Given the description of an element on the screen output the (x, y) to click on. 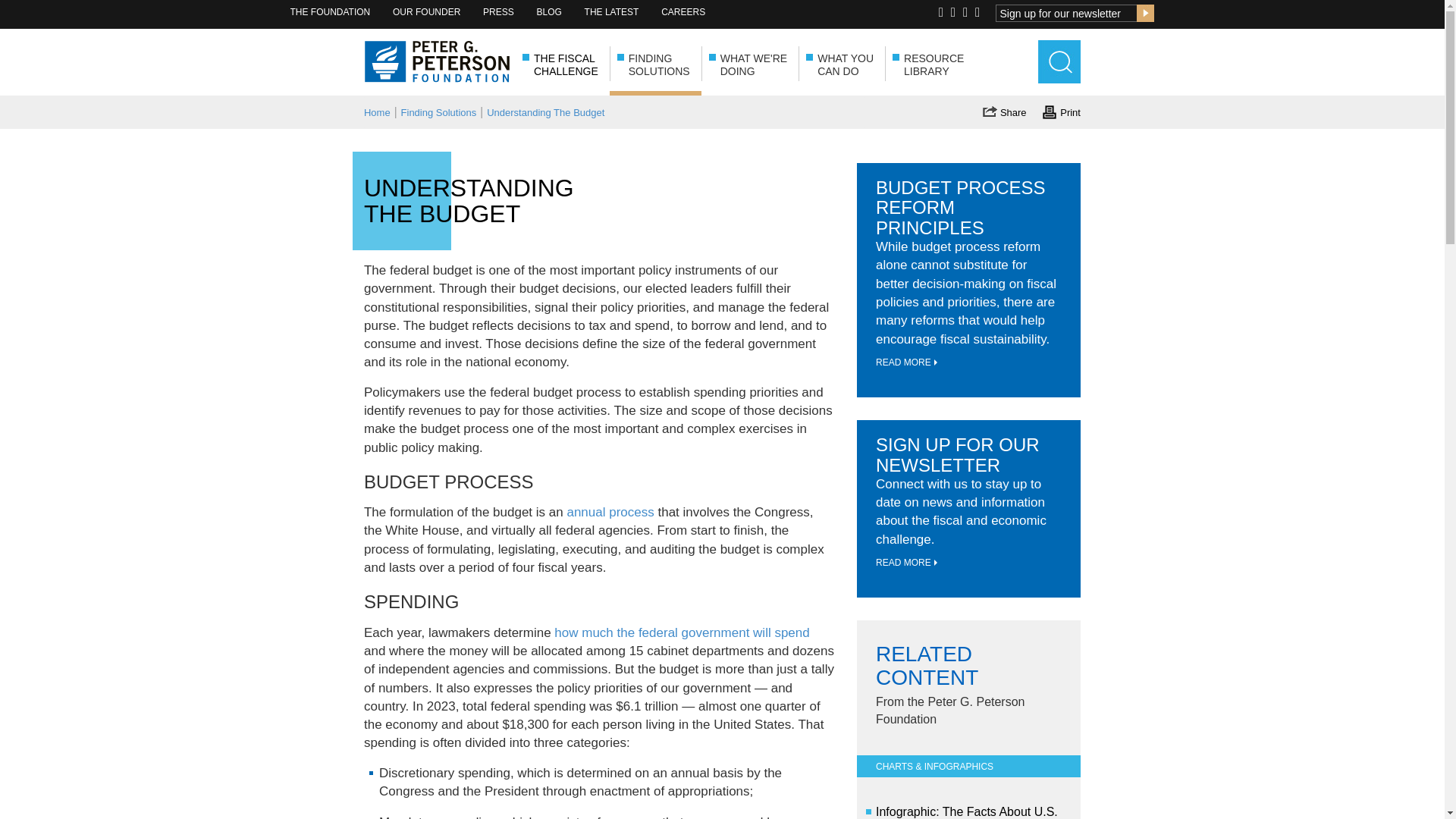
BLOG (551, 12)
OUR FOUNDER (428, 12)
CAREERS (685, 12)
Sign up for our newsletter (1066, 13)
THE LATEST (614, 12)
Display a printer-friendly version of this page. (655, 59)
SUBSCRIBE (1061, 111)
PRESS (1144, 13)
THE FOUNDATION (500, 12)
Skip to main content (331, 12)
